Given the description of an element on the screen output the (x, y) to click on. 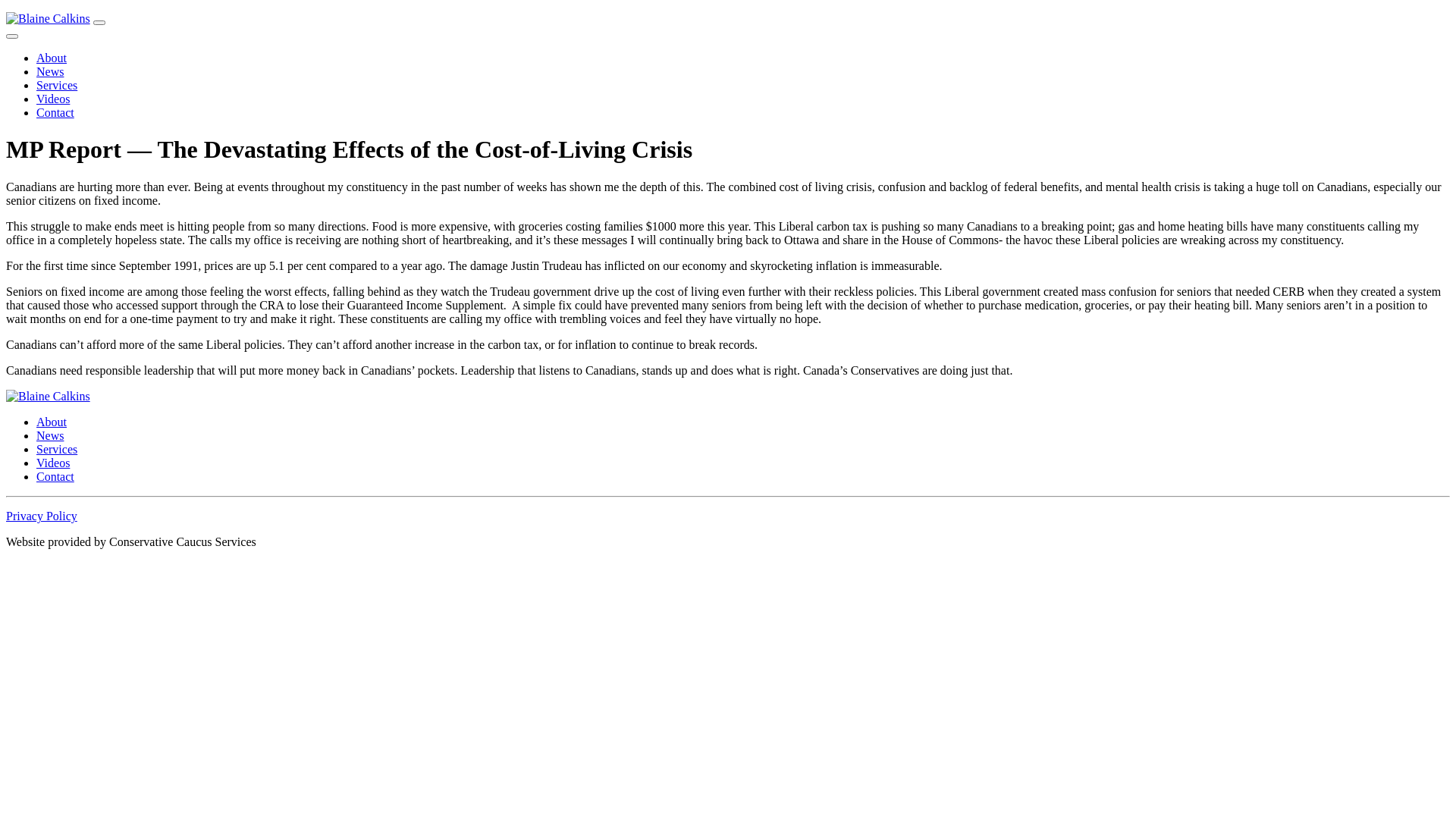
Videos Element type: text (52, 98)
Contact Element type: text (55, 476)
Videos Element type: text (52, 462)
Services Element type: text (56, 448)
About Element type: text (51, 421)
About Element type: text (51, 57)
Services Element type: text (56, 84)
Privacy Policy Element type: text (41, 515)
Contact Element type: text (55, 112)
News Element type: text (49, 71)
News Element type: text (49, 435)
